Given the description of an element on the screen output the (x, y) to click on. 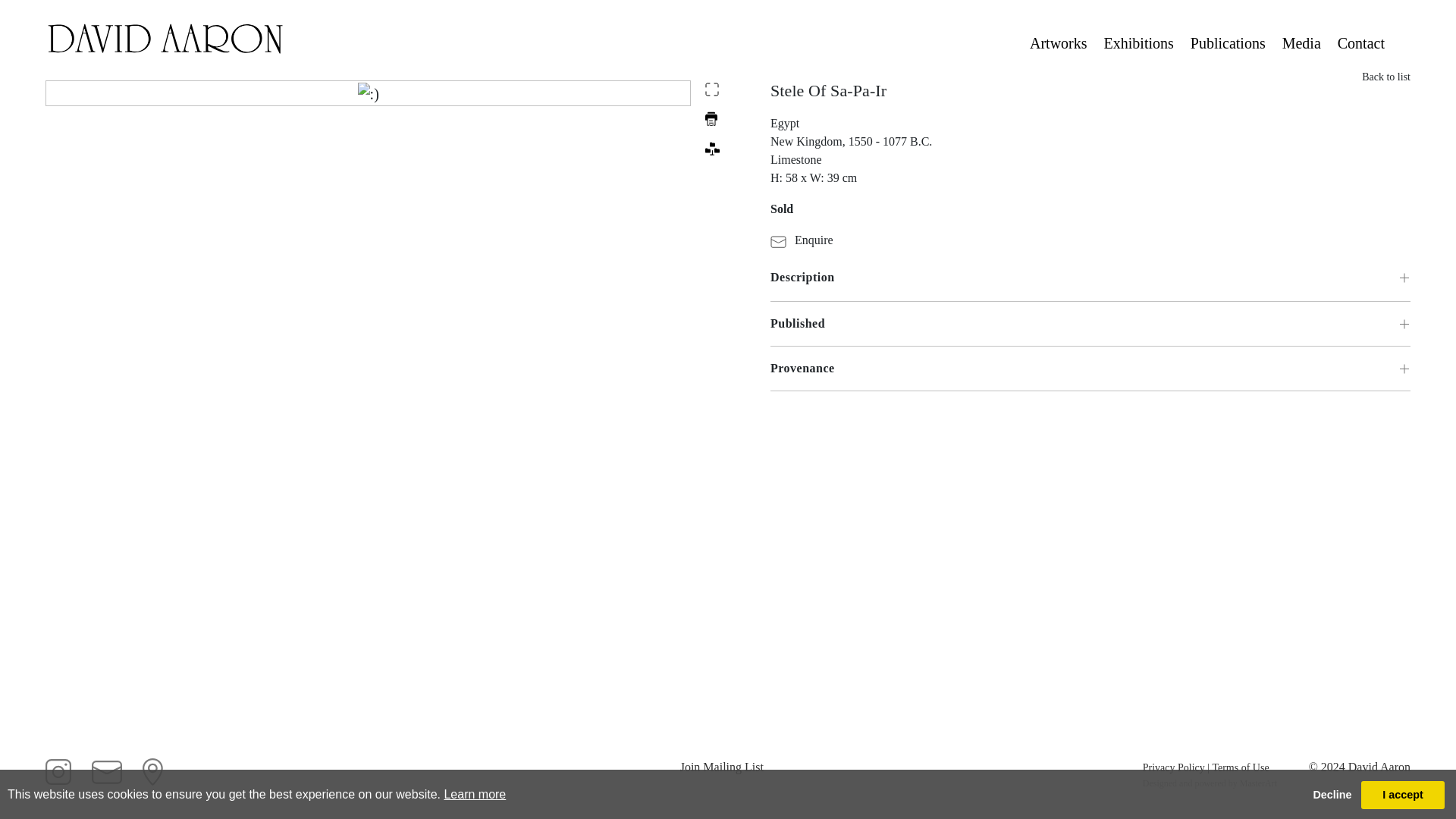
Exhibitions (1138, 43)
Media (1301, 43)
Back to list (1385, 76)
Description (1090, 277)
Contact (1361, 43)
Published (1090, 323)
Provenance (1090, 368)
Enquire (801, 239)
Artworks (1058, 43)
Publications (1228, 43)
